Given the description of an element on the screen output the (x, y) to click on. 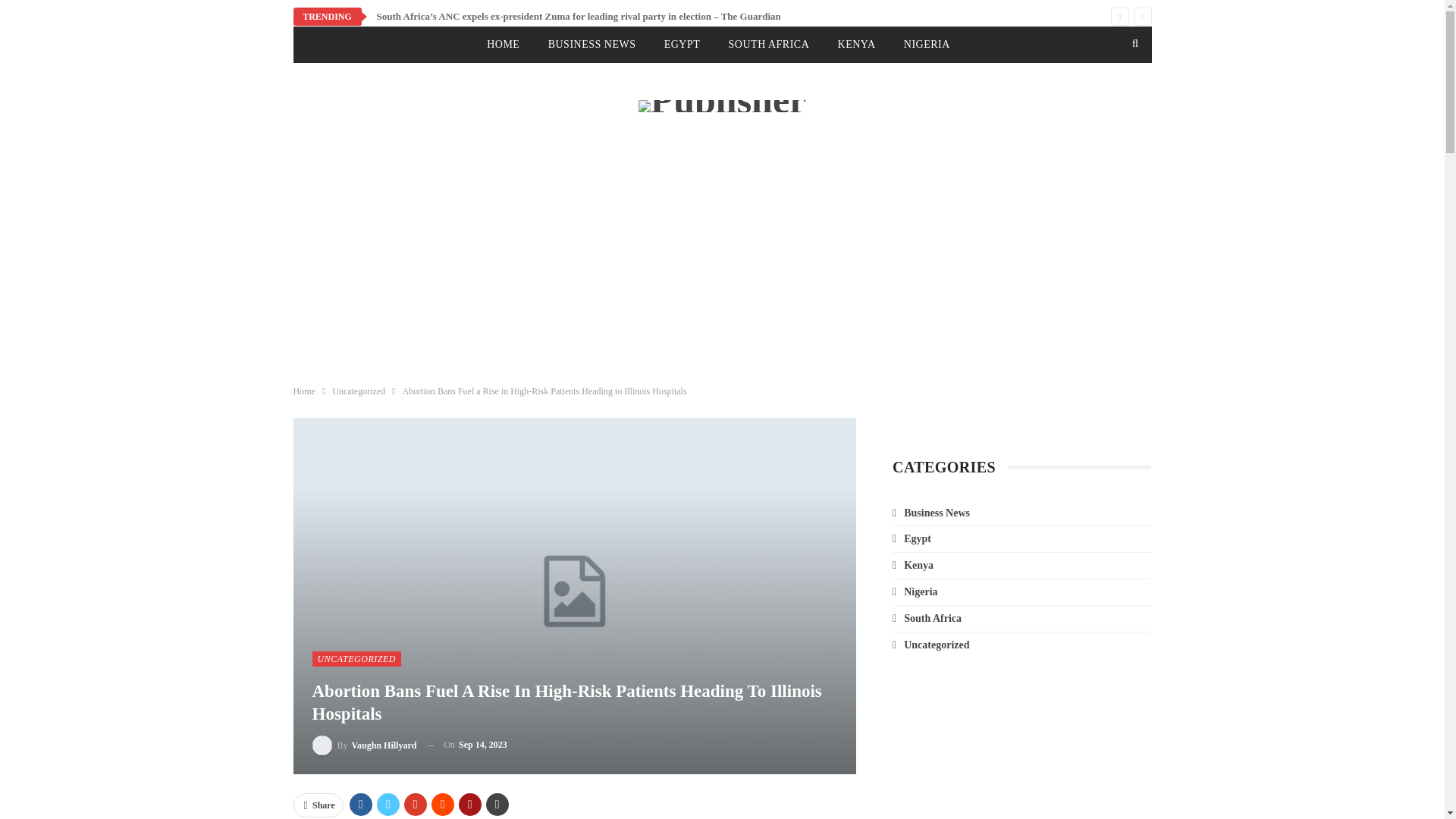
EGYPT (682, 44)
By Vaughn Hillyard (364, 744)
Uncategorized (358, 391)
HOME (502, 44)
Browse Author Articles (364, 744)
BUSINESS NEWS (591, 44)
NIGERIA (927, 44)
SOUTH AFRICA (768, 44)
